Given the description of an element on the screen output the (x, y) to click on. 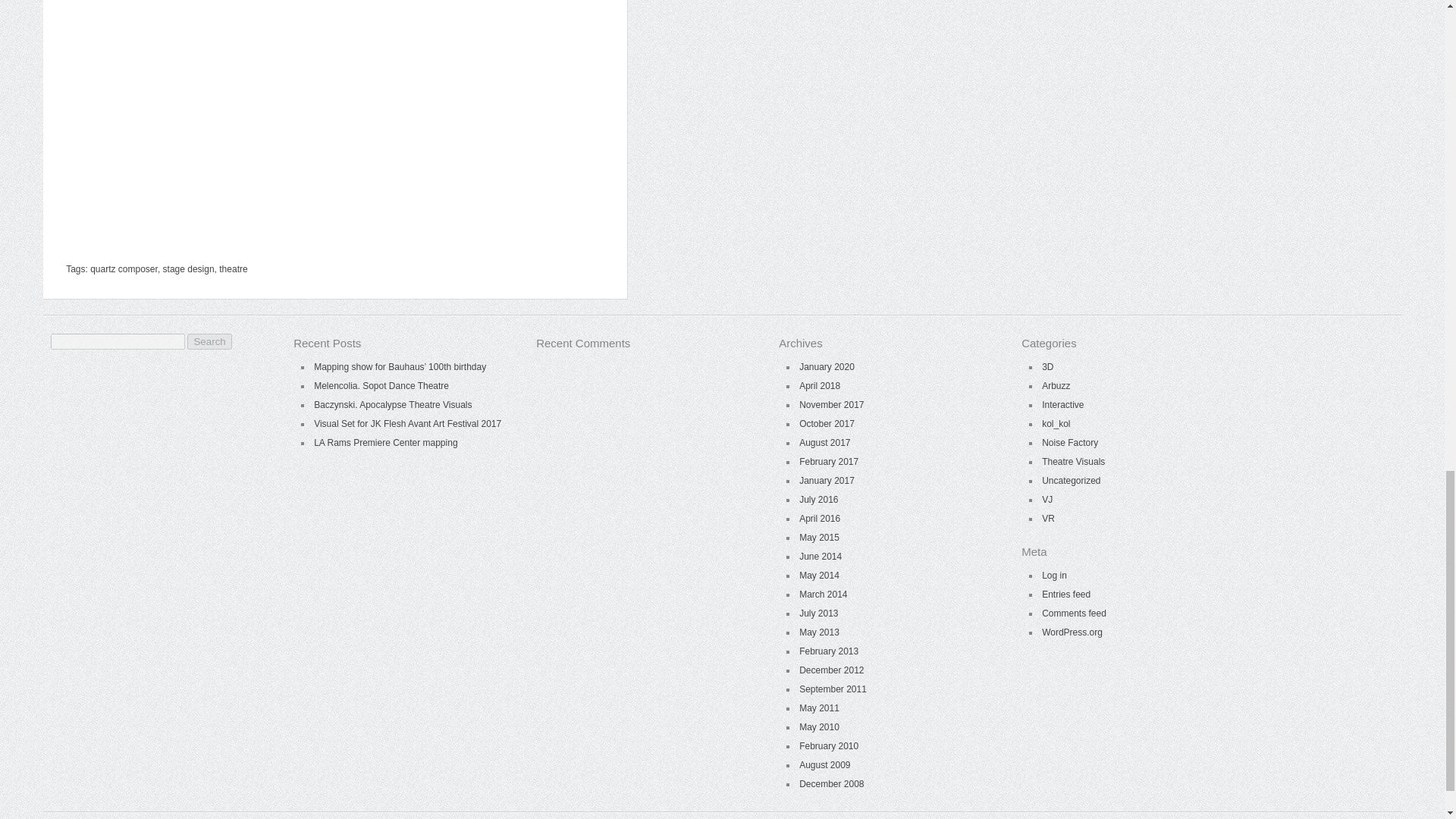
Search (209, 341)
May 2013 (819, 632)
April 2018 (819, 385)
August 2017 (824, 442)
March 2014 (823, 593)
November 2017 (831, 404)
January 2020 (826, 366)
stage design (188, 268)
May 2014 (819, 575)
May 2015 (819, 537)
